Given the description of an element on the screen output the (x, y) to click on. 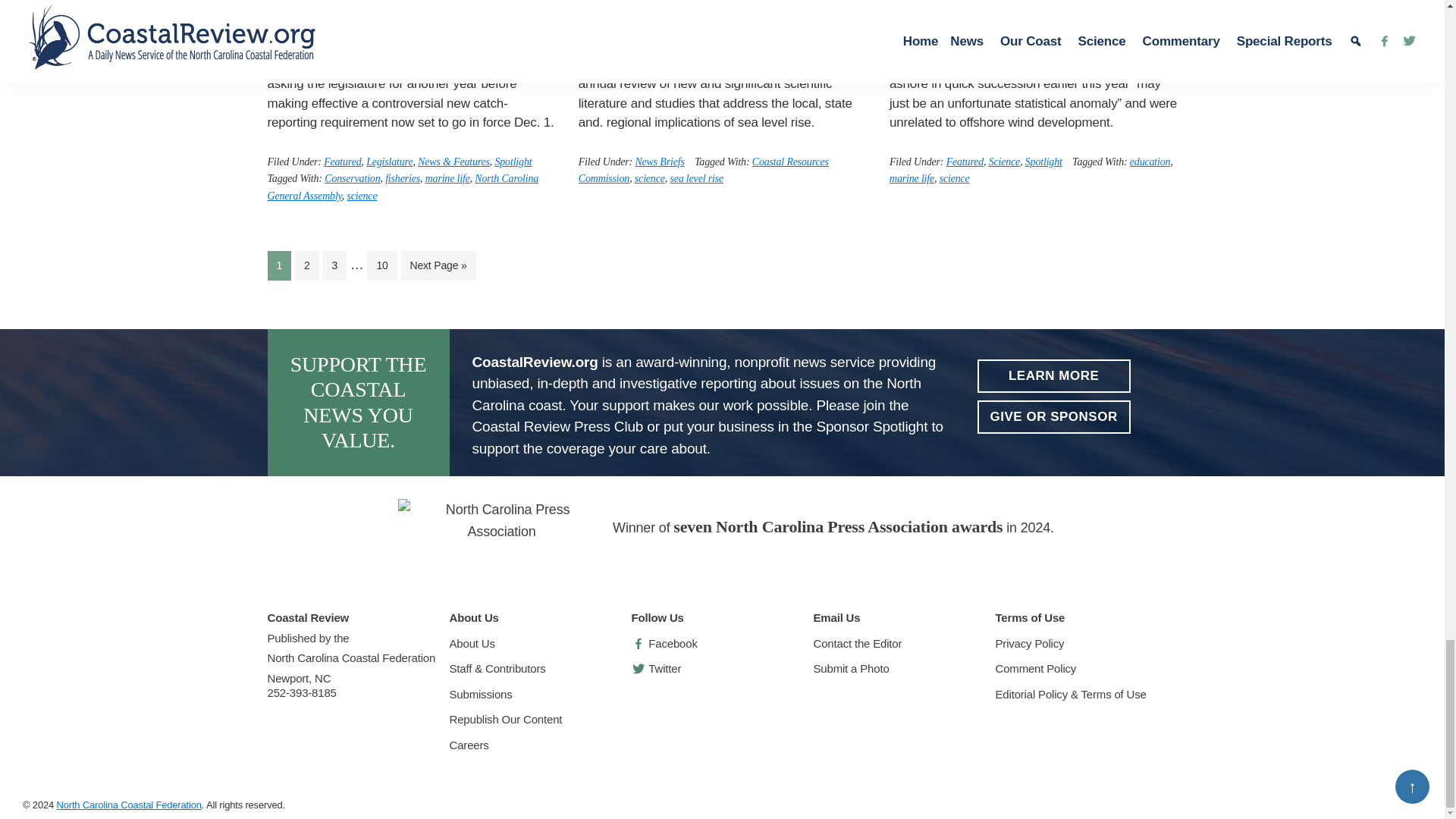
Learn More (1052, 376)
Give or Sponsor (1052, 417)
